Given the description of an element on the screen output the (x, y) to click on. 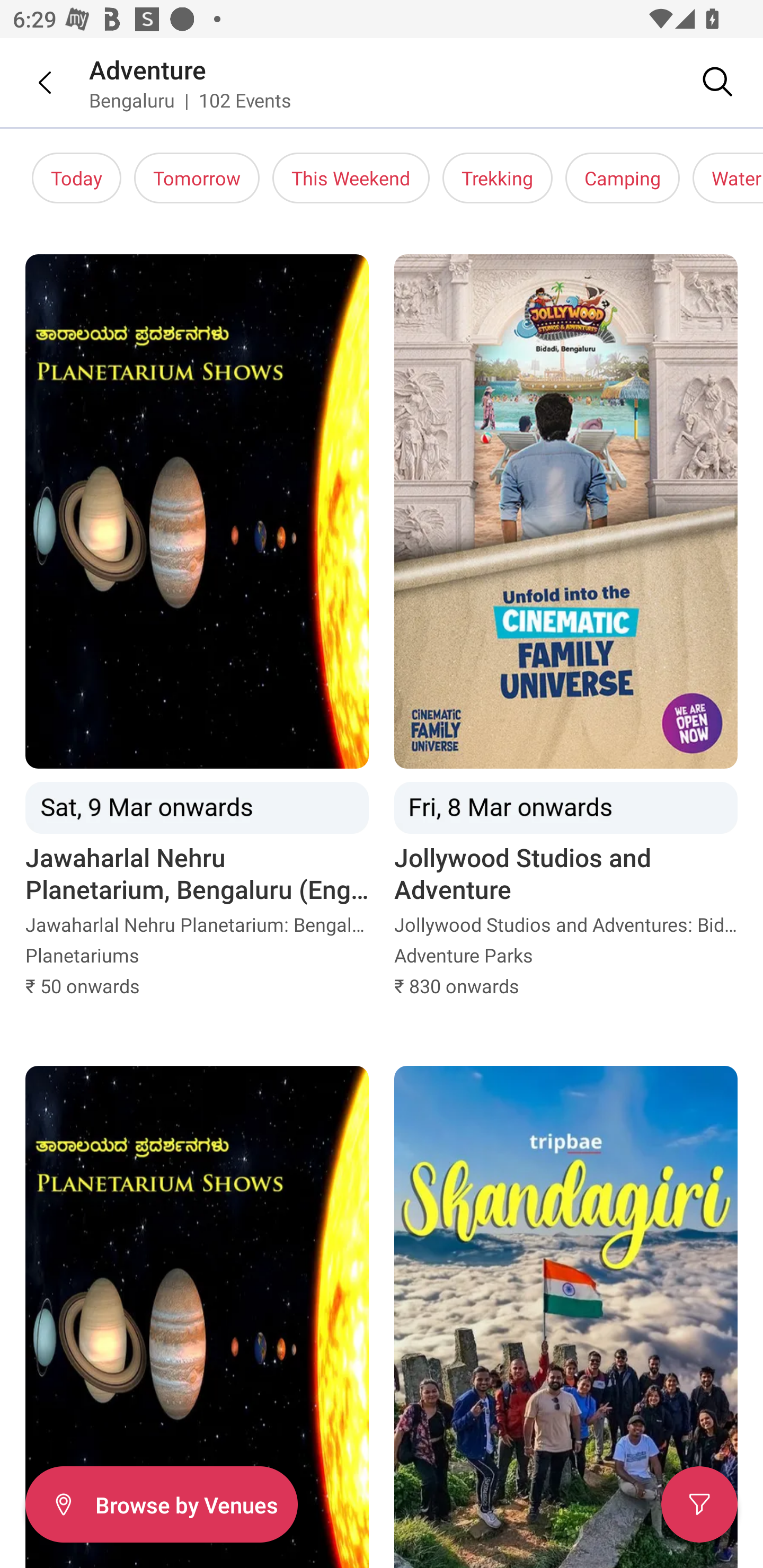
Back (31, 82)
Adventure (147, 68)
Bengaluru  |  102 Events (190, 99)
Today (76, 177)
Tomorrow (196, 177)
This Weekend (350, 177)
Trekking (497, 177)
Camping (622, 177)
Filter Browse by Venues (161, 1504)
Filter (699, 1504)
